Given the description of an element on the screen output the (x, y) to click on. 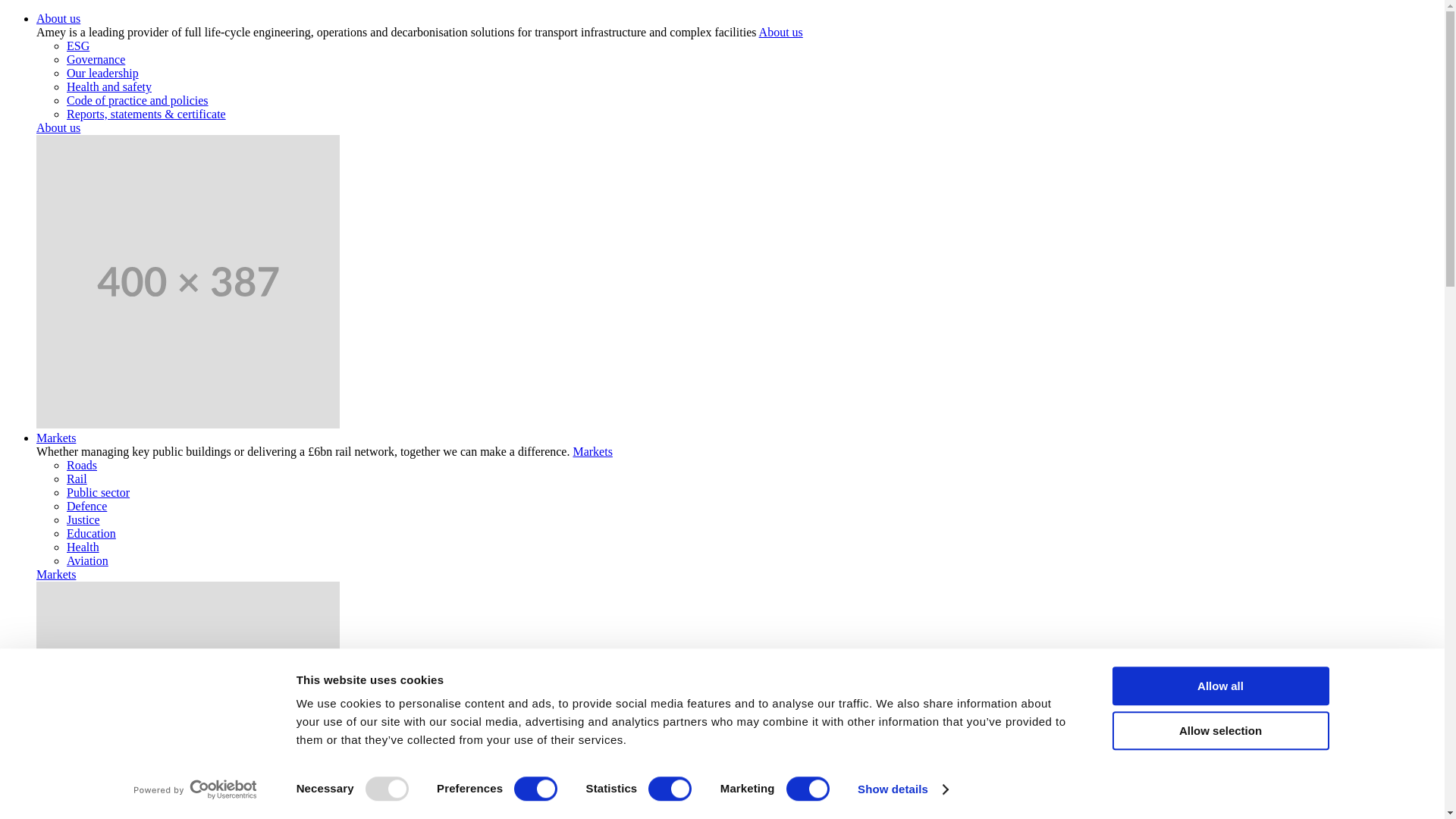
Show details (902, 789)
